Given the description of an element on the screen output the (x, y) to click on. 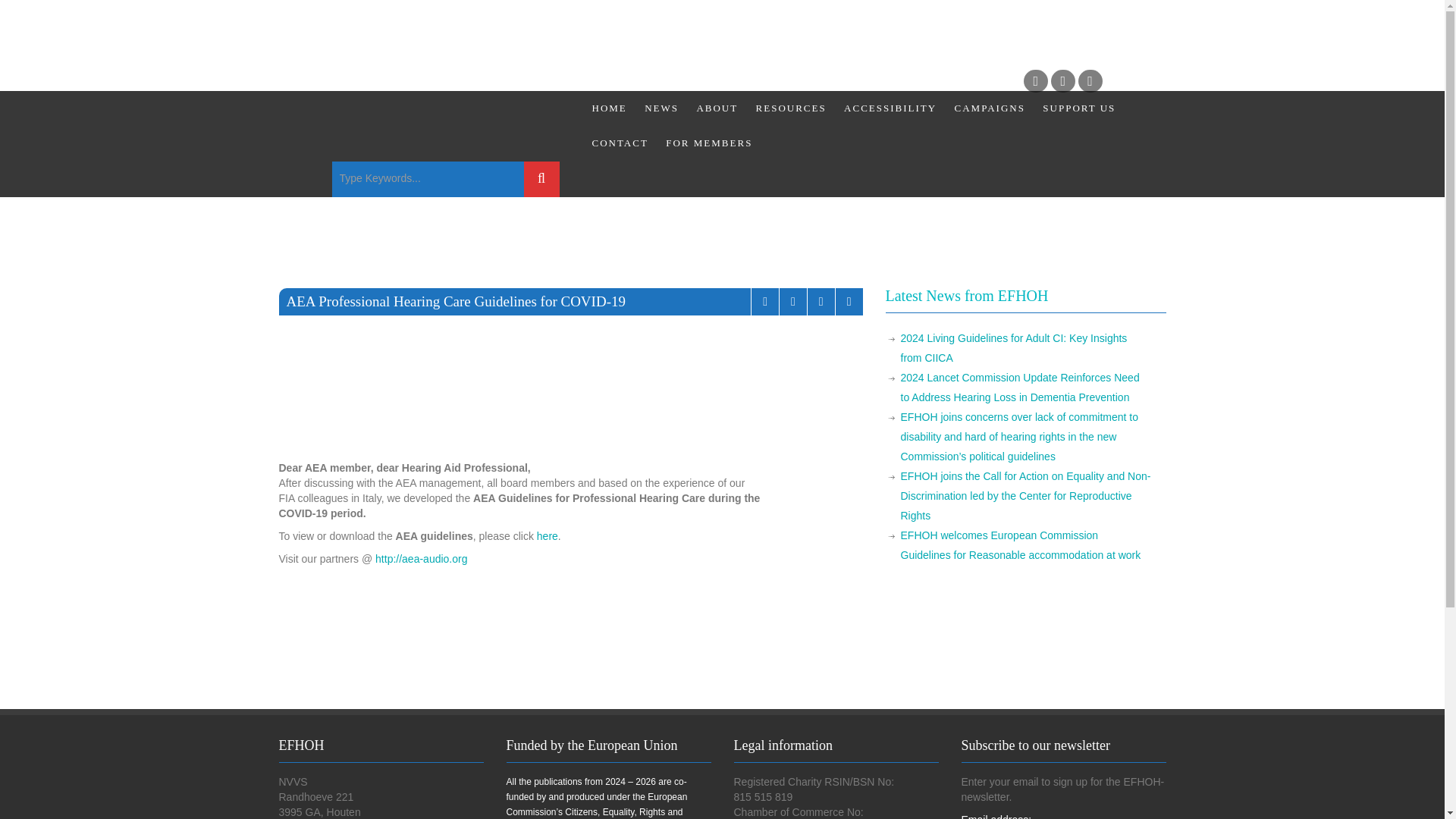
Share on Google Plus (764, 301)
Follow us on Facebook (1035, 80)
Subscribe to us on YouTube (1090, 80)
Share on Linkedin (792, 301)
Share on Facebook (820, 301)
Share on Twitter (848, 301)
Follow us on Twitter (1063, 80)
